Given the description of an element on the screen output the (x, y) to click on. 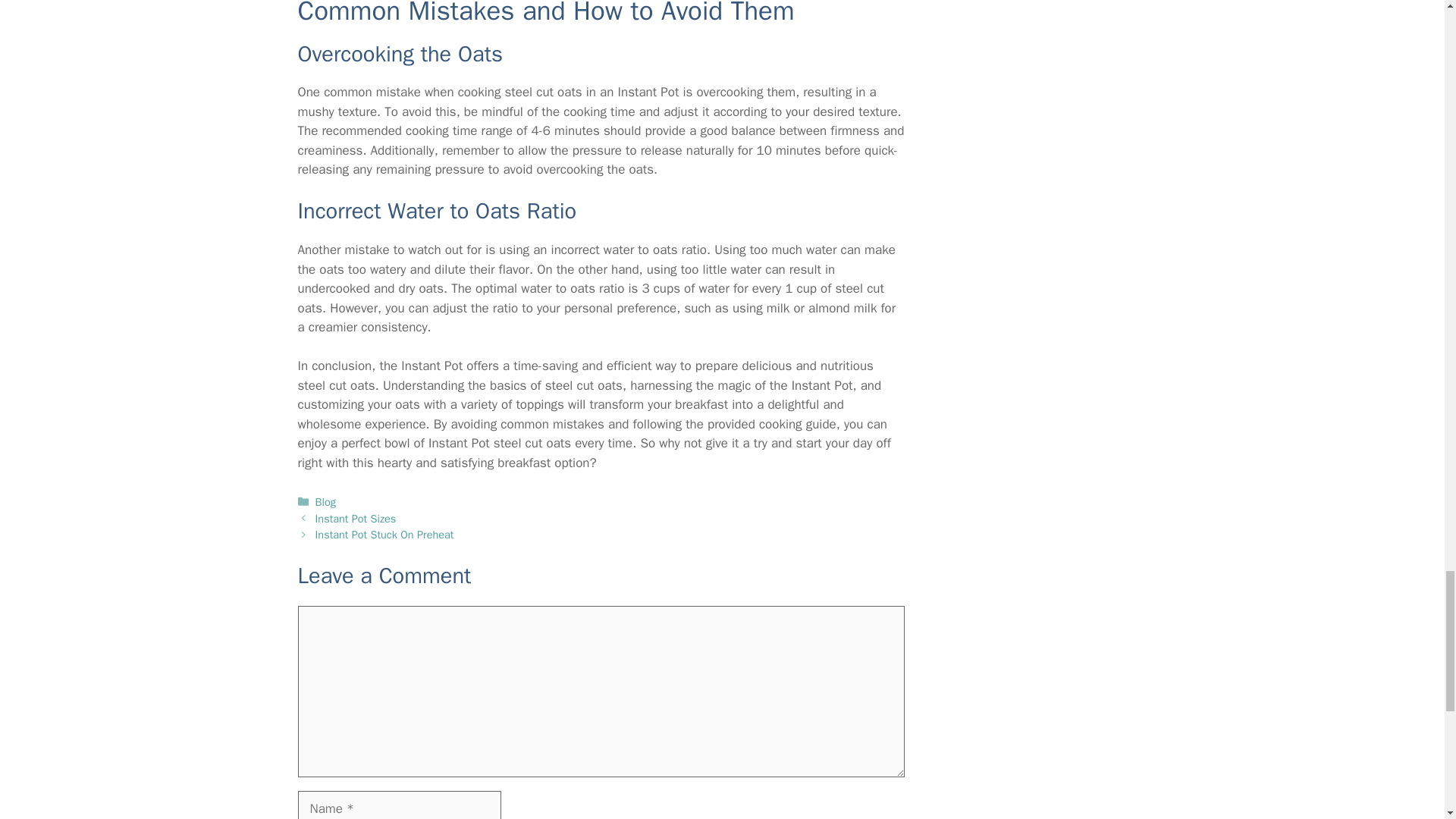
Instant Pot Sizes (355, 518)
Blog (325, 501)
Instant Pot Stuck On Preheat (384, 534)
